Given the description of an element on the screen output the (x, y) to click on. 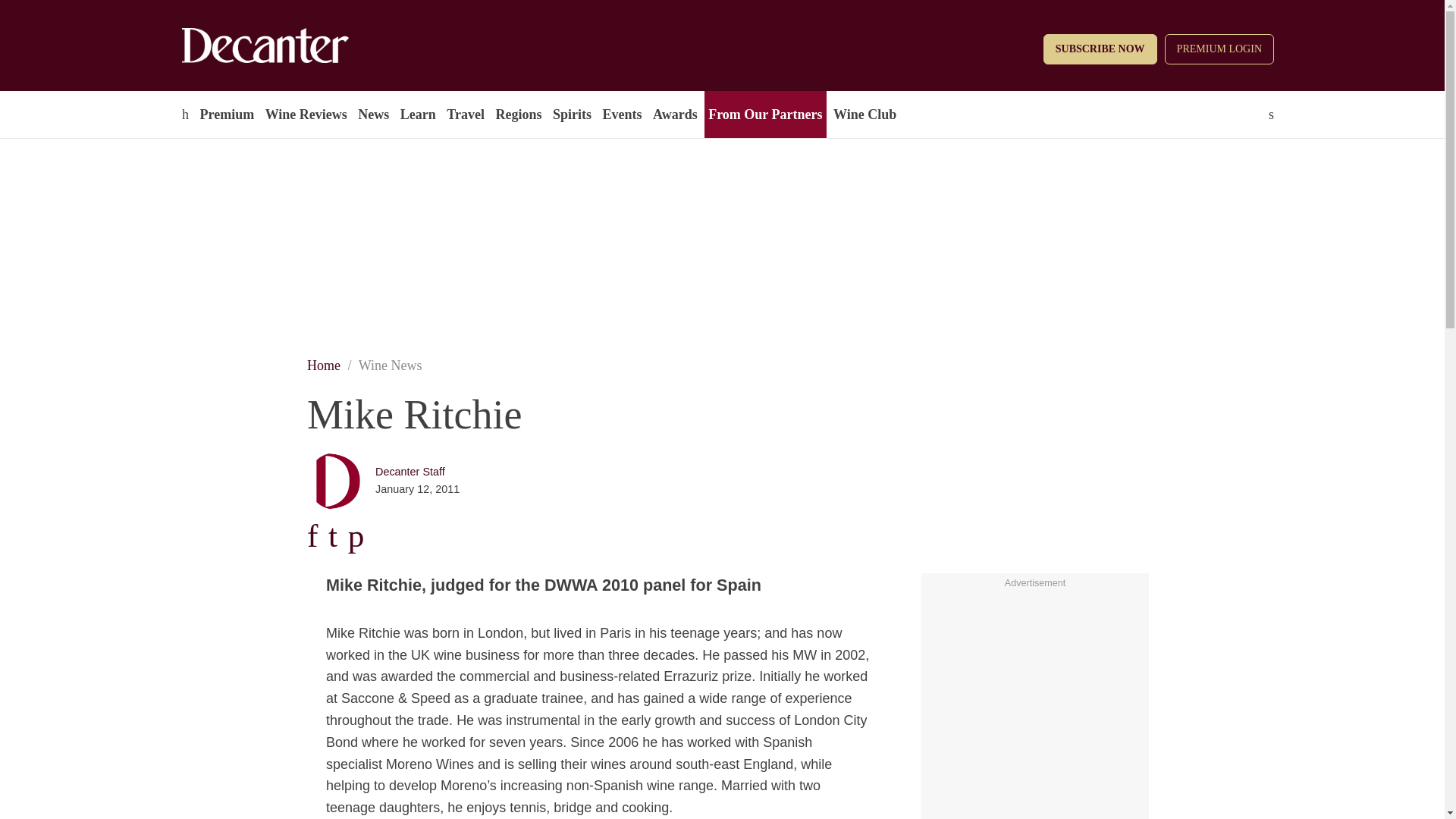
Awards (675, 114)
Decanter (297, 45)
Premium (226, 114)
Wine Reviews (306, 114)
Learn (417, 114)
Travel (464, 114)
